Given the description of an element on the screen output the (x, y) to click on. 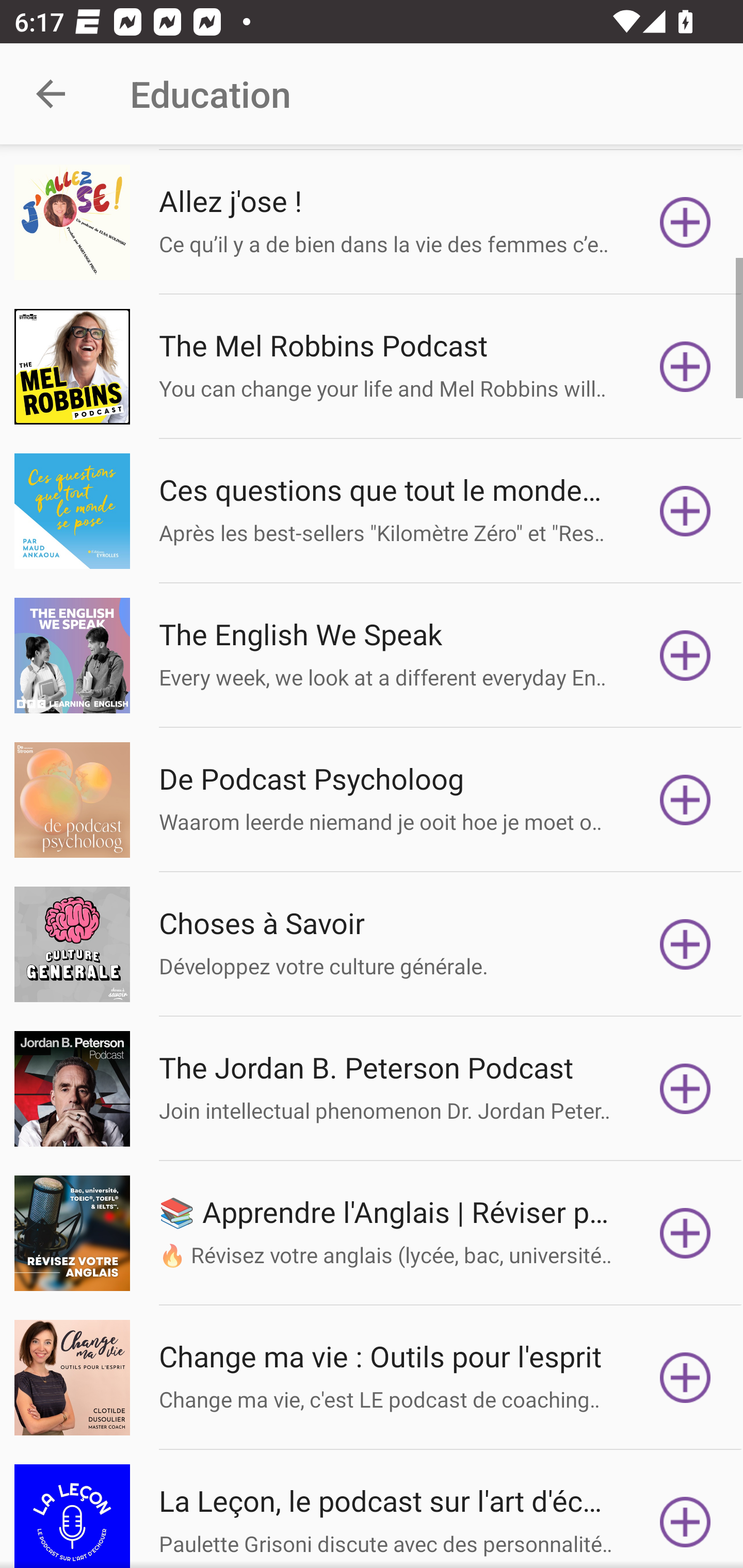
Navigate up (50, 93)
Subscribe (685, 222)
Subscribe (685, 366)
Subscribe (685, 511)
Subscribe (685, 655)
Subscribe (685, 799)
Subscribe (685, 943)
Subscribe (685, 1088)
Subscribe (685, 1233)
Subscribe (685, 1377)
Subscribe (685, 1516)
